Given the description of an element on the screen output the (x, y) to click on. 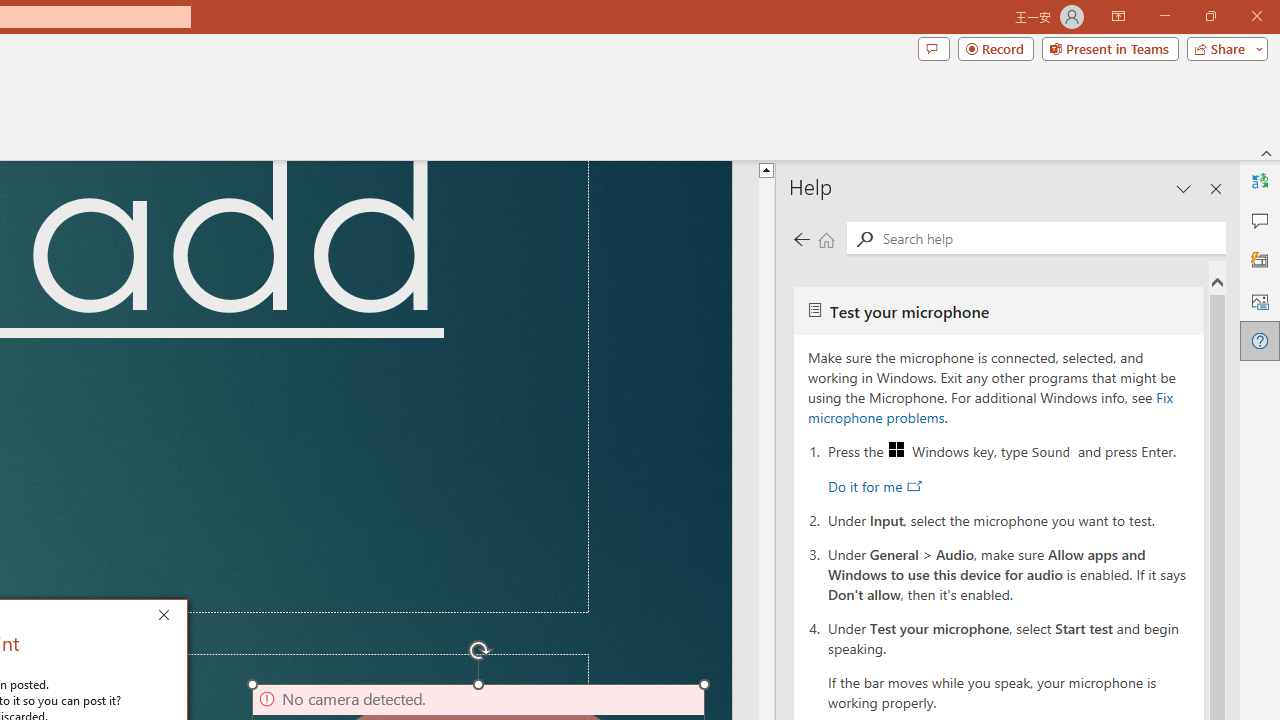
New Windows key logo (896, 449)
